Given the description of an element on the screen output the (x, y) to click on. 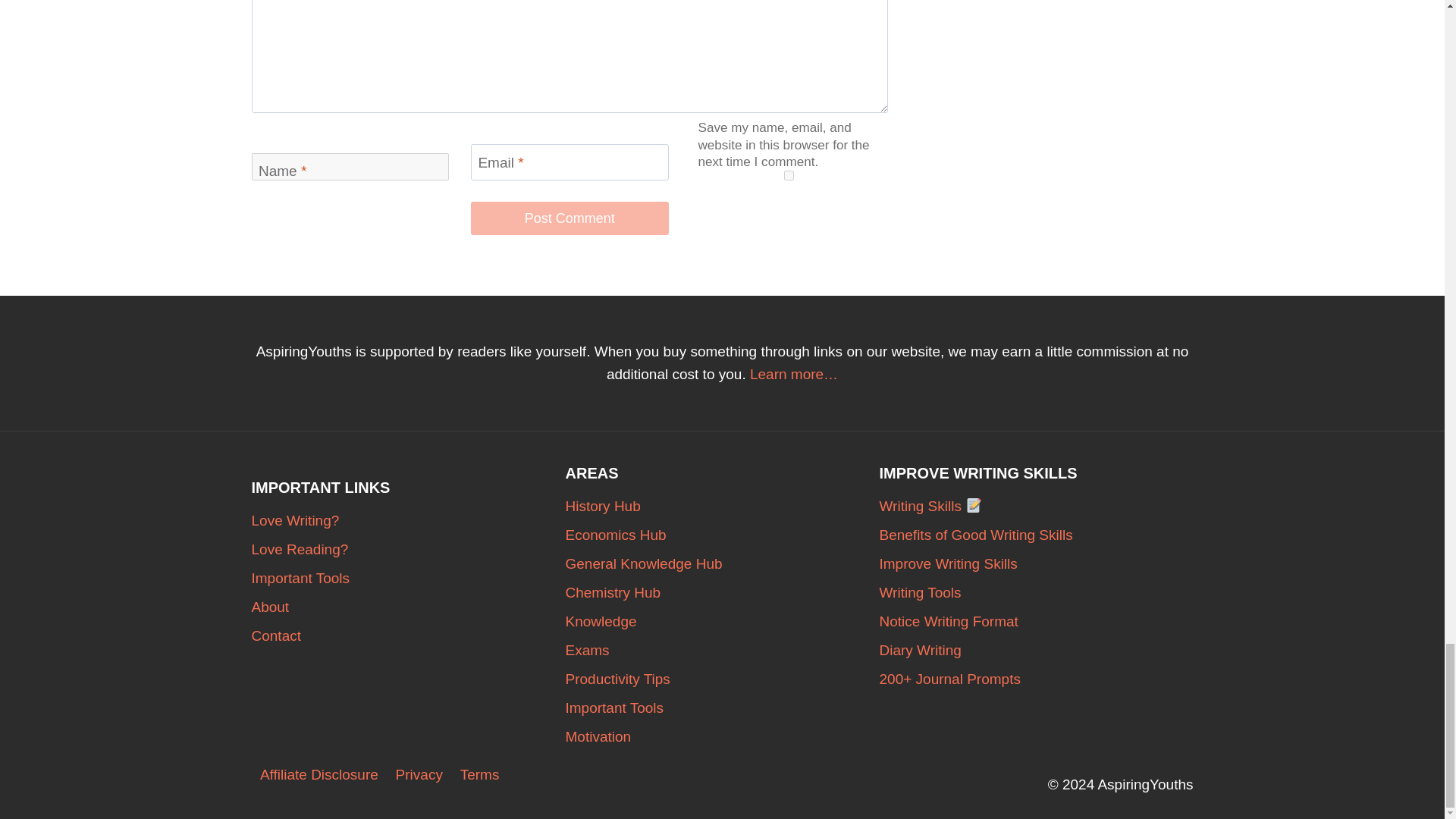
General Knowledge Hub (722, 563)
Love Reading? (408, 549)
Love Writing? (408, 520)
yes (789, 175)
Contact (408, 635)
Post Comment (569, 217)
Important Tools (408, 578)
Economics Hub (722, 534)
About (408, 606)
Knowledge (722, 621)
Chemistry Hub (722, 592)
Post Comment (569, 217)
Exams (722, 650)
History Hub (722, 506)
